Given the description of an element on the screen output the (x, y) to click on. 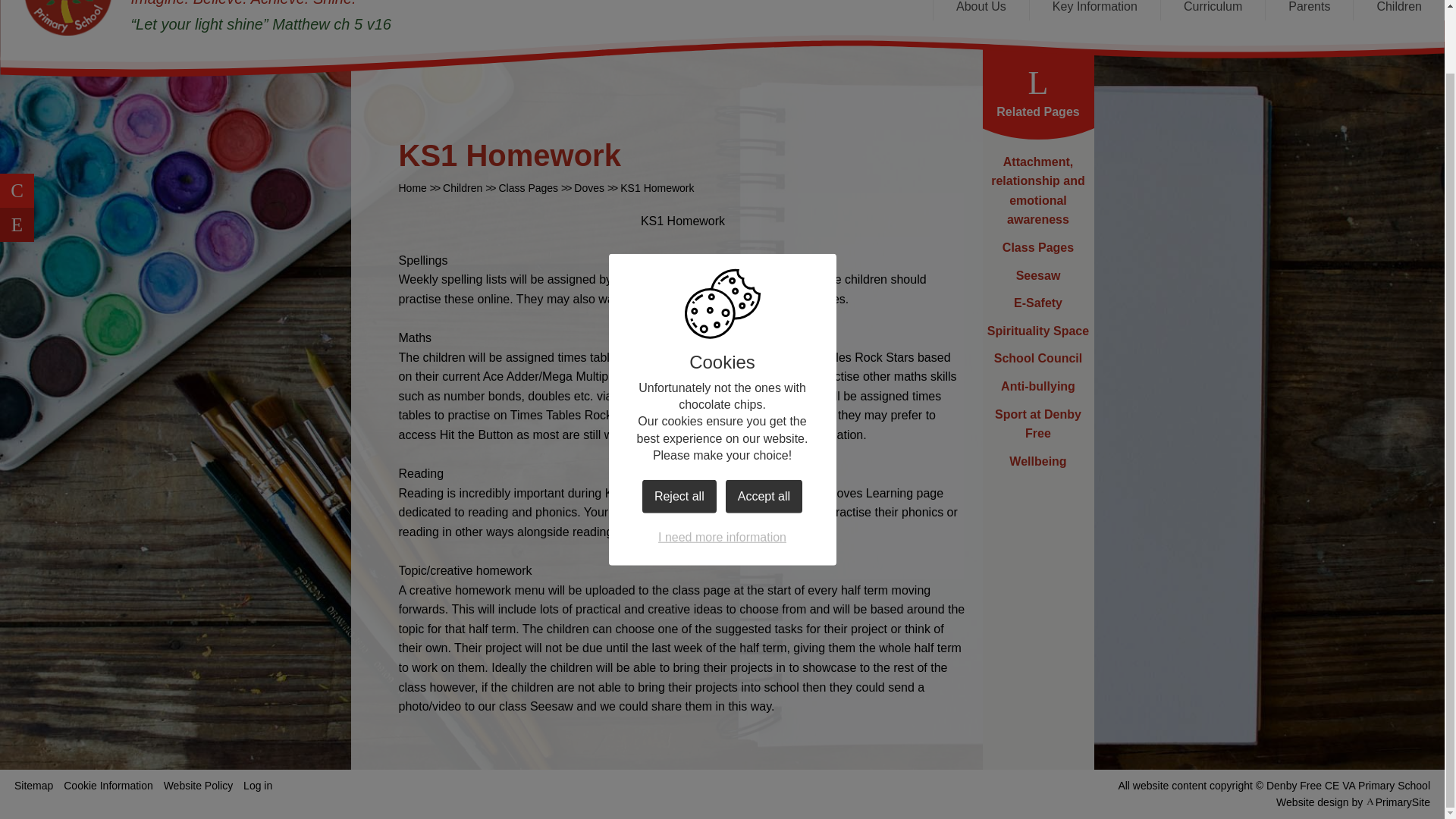
Curriculum (1212, 10)
About Us (981, 10)
Home Page (68, 18)
Key Information (1094, 10)
